Given the description of an element on the screen output the (x, y) to click on. 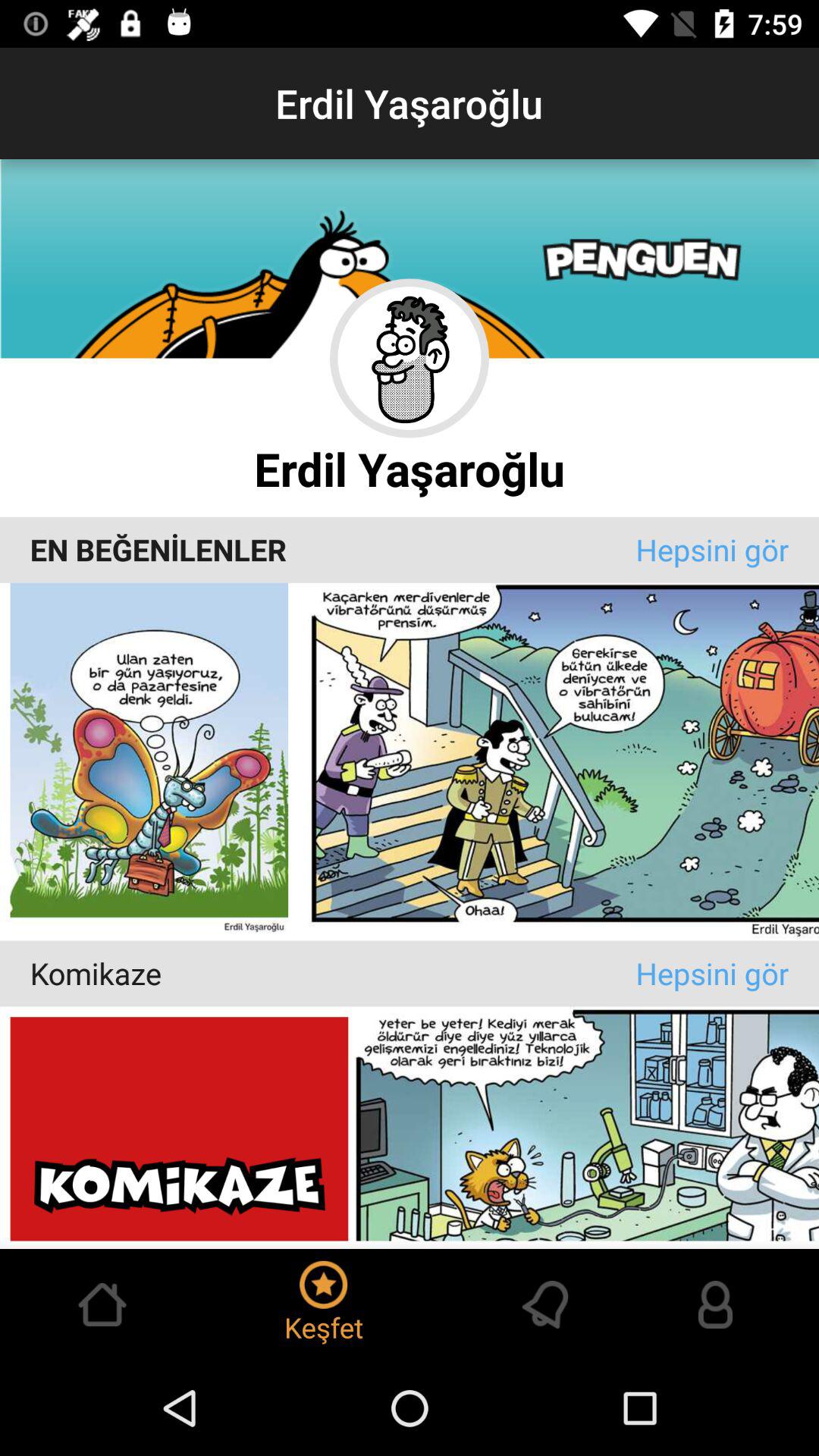
tap komikaze item (332, 973)
